Given the description of an element on the screen output the (x, y) to click on. 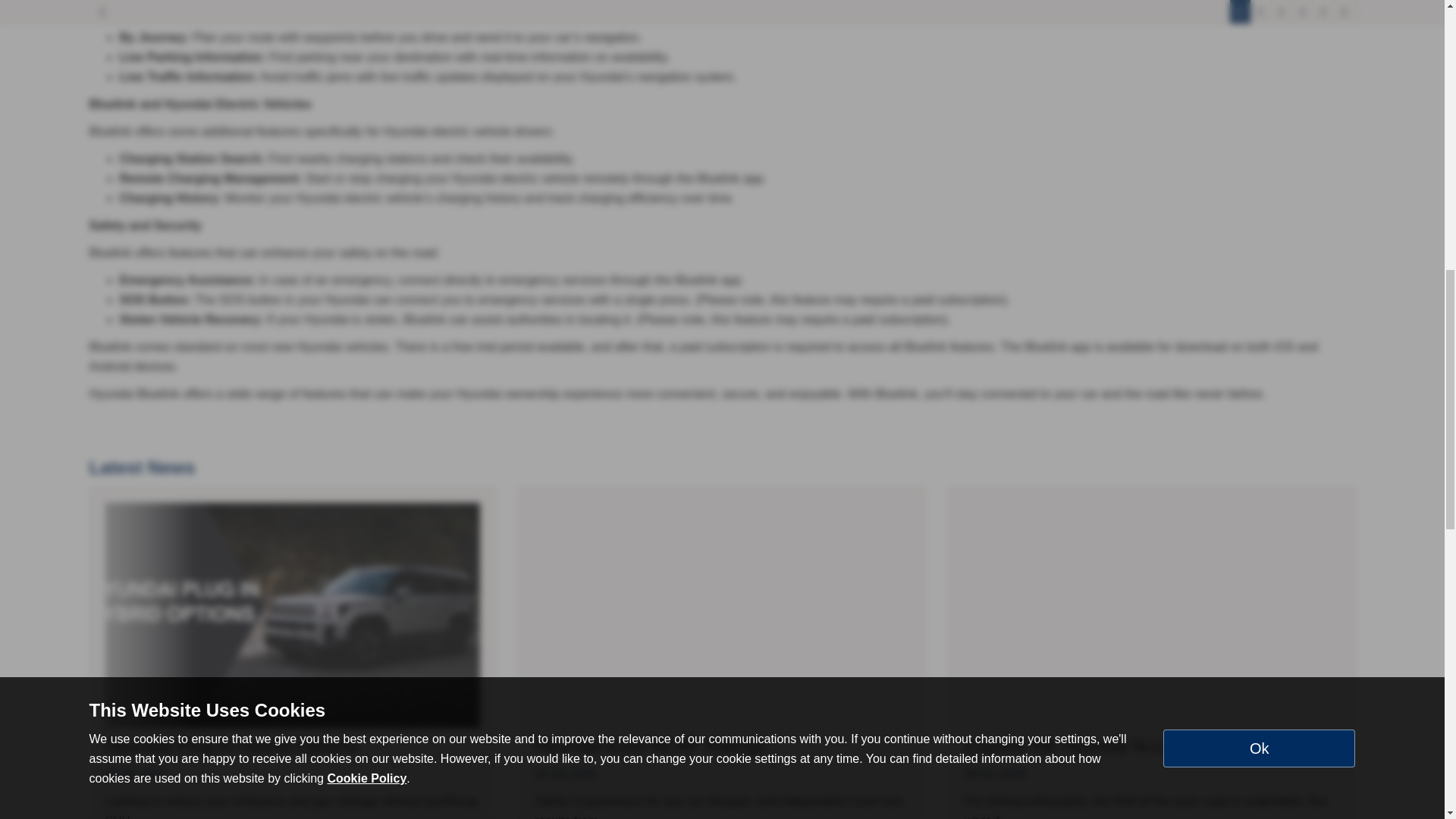
Hyundai Euro NCAP Ratings (650, 745)
Hyundai Plug-in Hybrid Options (292, 615)
Hyundai Plug-in Hybrid Options (231, 745)
Explore the Hyundai N-Line Range (1104, 745)
Hyundai Euro NCAP Ratings (722, 615)
Explore the Hyundai N-Line Range (1151, 615)
